Given the description of an element on the screen output the (x, y) to click on. 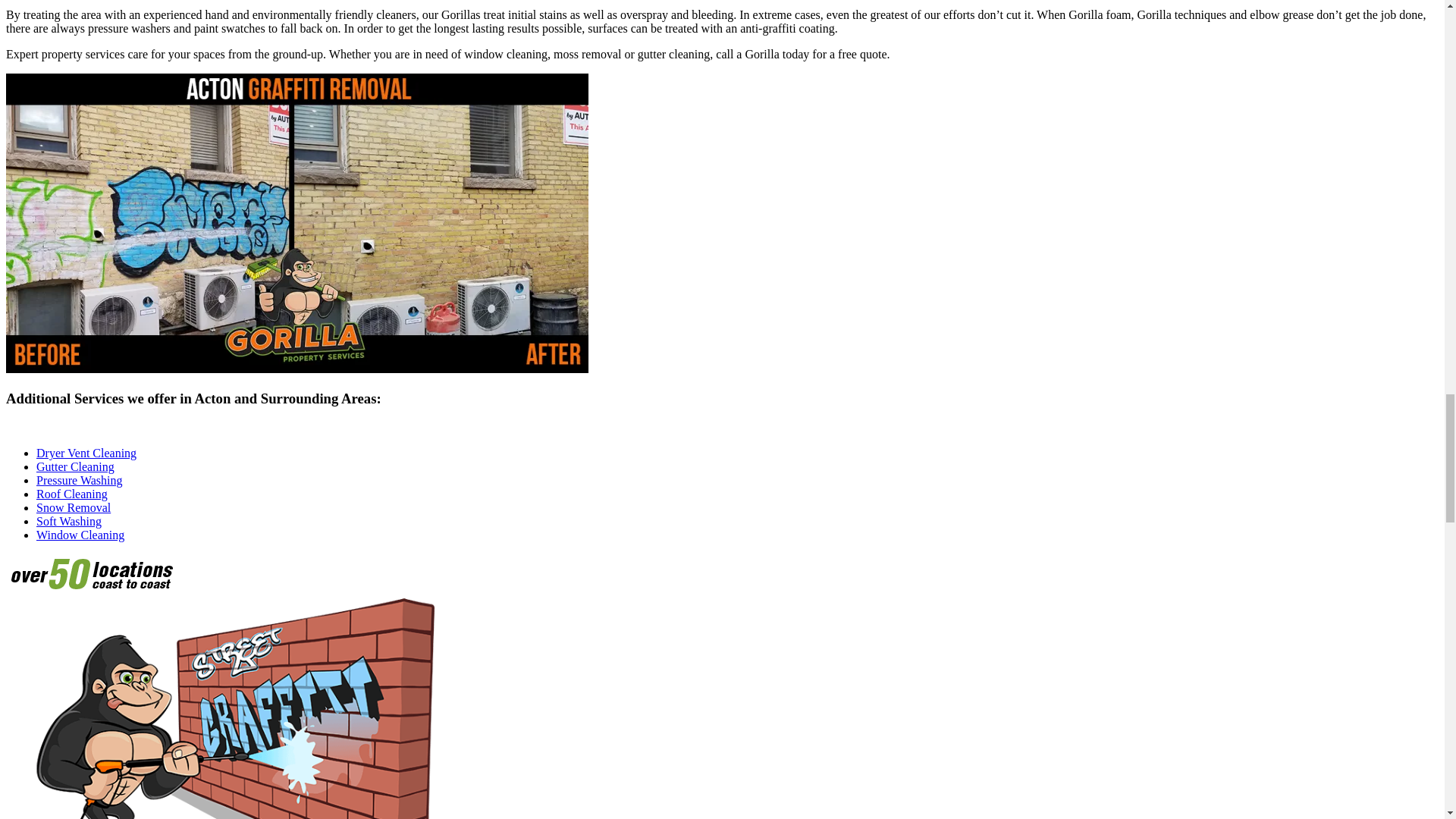
Acton Window Cleaning (79, 534)
Acton Snow Removal (73, 507)
Acton Soft Washing (68, 521)
Acton Gutter Cleaning (75, 466)
Acton Pressure Washing (79, 480)
Acton Dryer Vent Cleaning (86, 452)
Acton Roof Cleaning (71, 493)
